Given the description of an element on the screen output the (x, y) to click on. 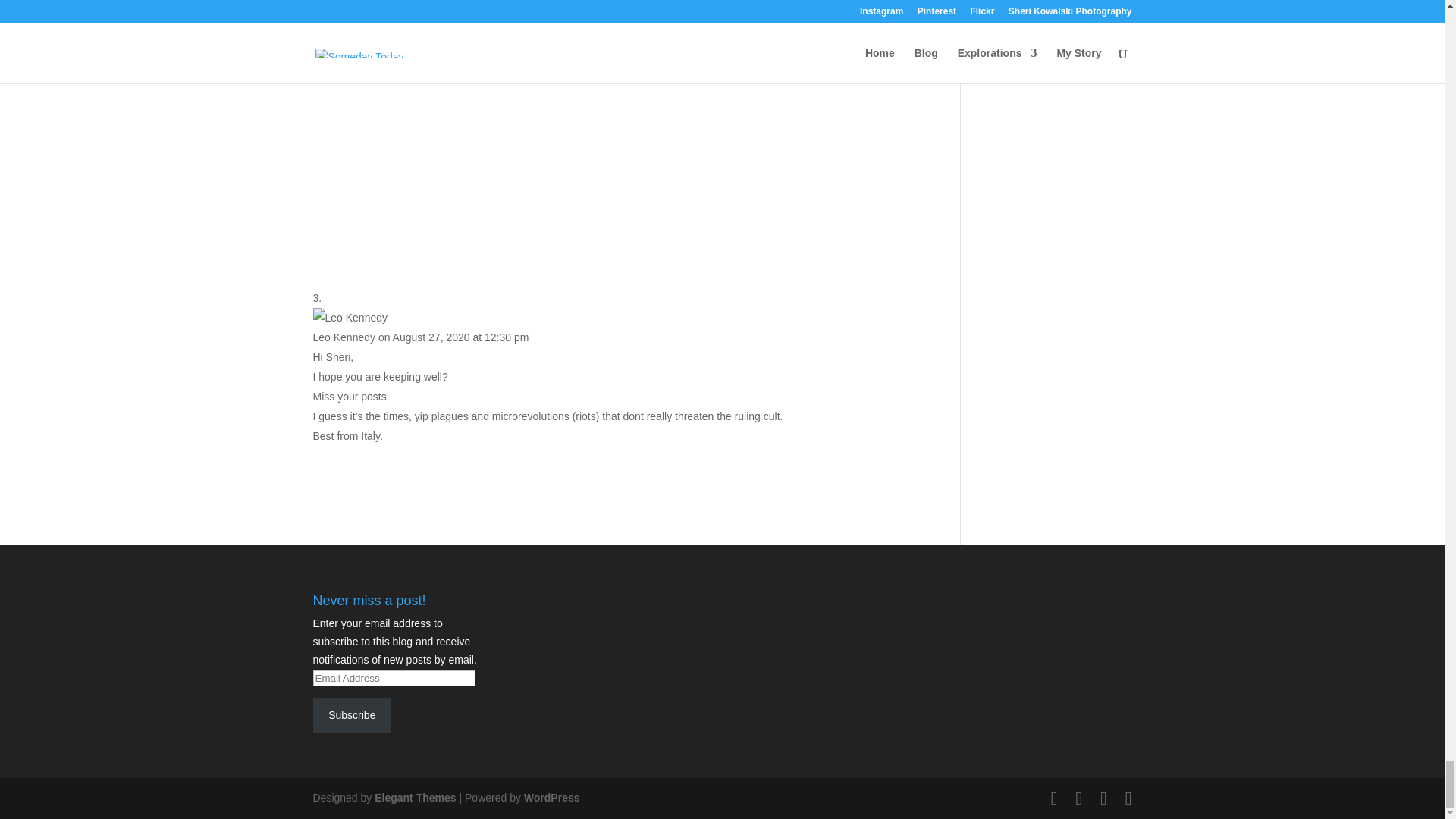
Premium WordPress Themes (414, 797)
